Given the description of an element on the screen output the (x, y) to click on. 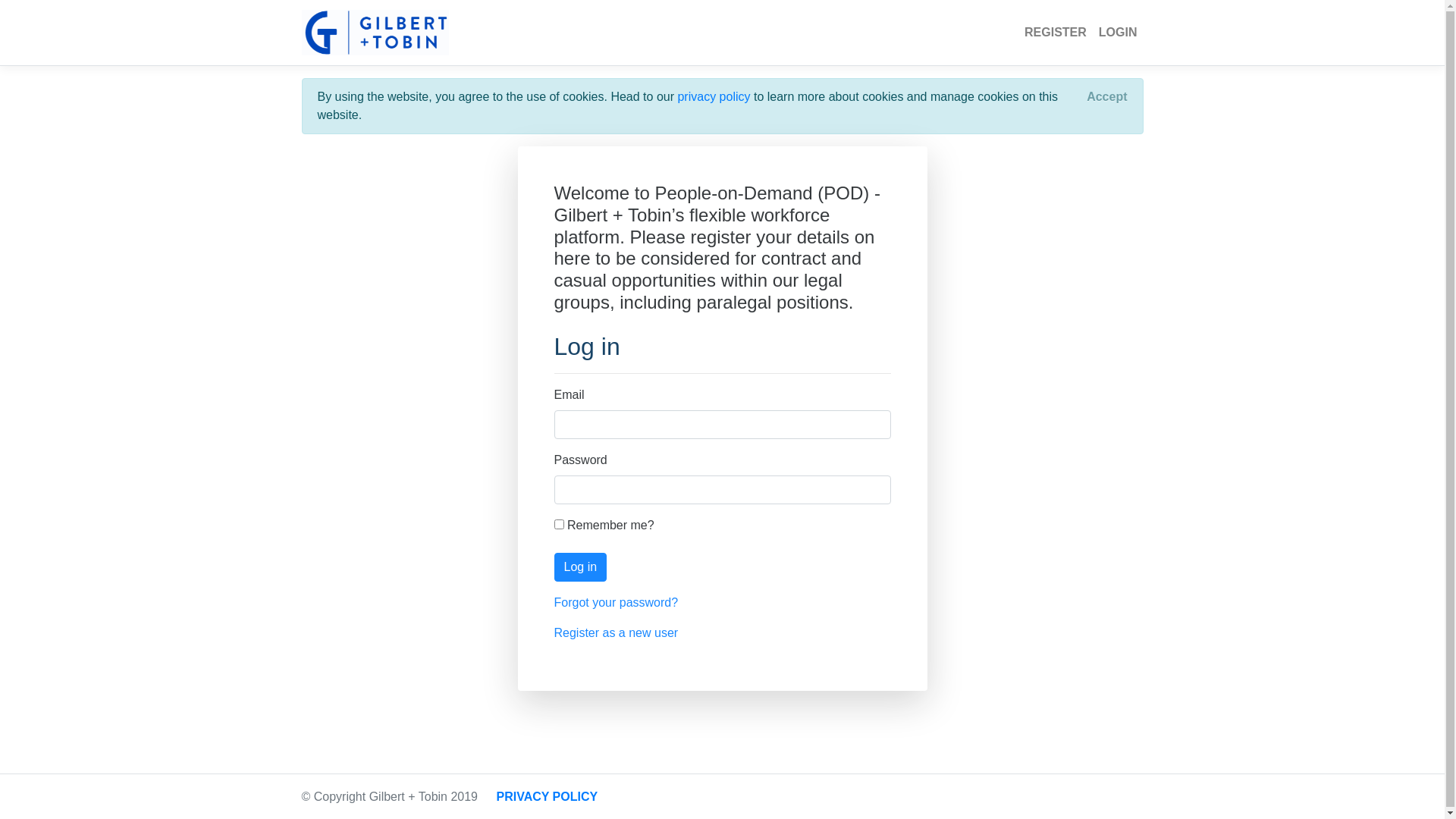
PRIVACY POLICY Element type: text (546, 796)
Register as a new user Element type: text (615, 632)
Forgot your password? Element type: text (615, 602)
privacy policy Element type: text (713, 96)
REGISTER Element type: text (1055, 32)
Accept Element type: text (1106, 96)
LOGIN Element type: text (1117, 32)
Log in Element type: text (579, 566)
